Given the description of an element on the screen output the (x, y) to click on. 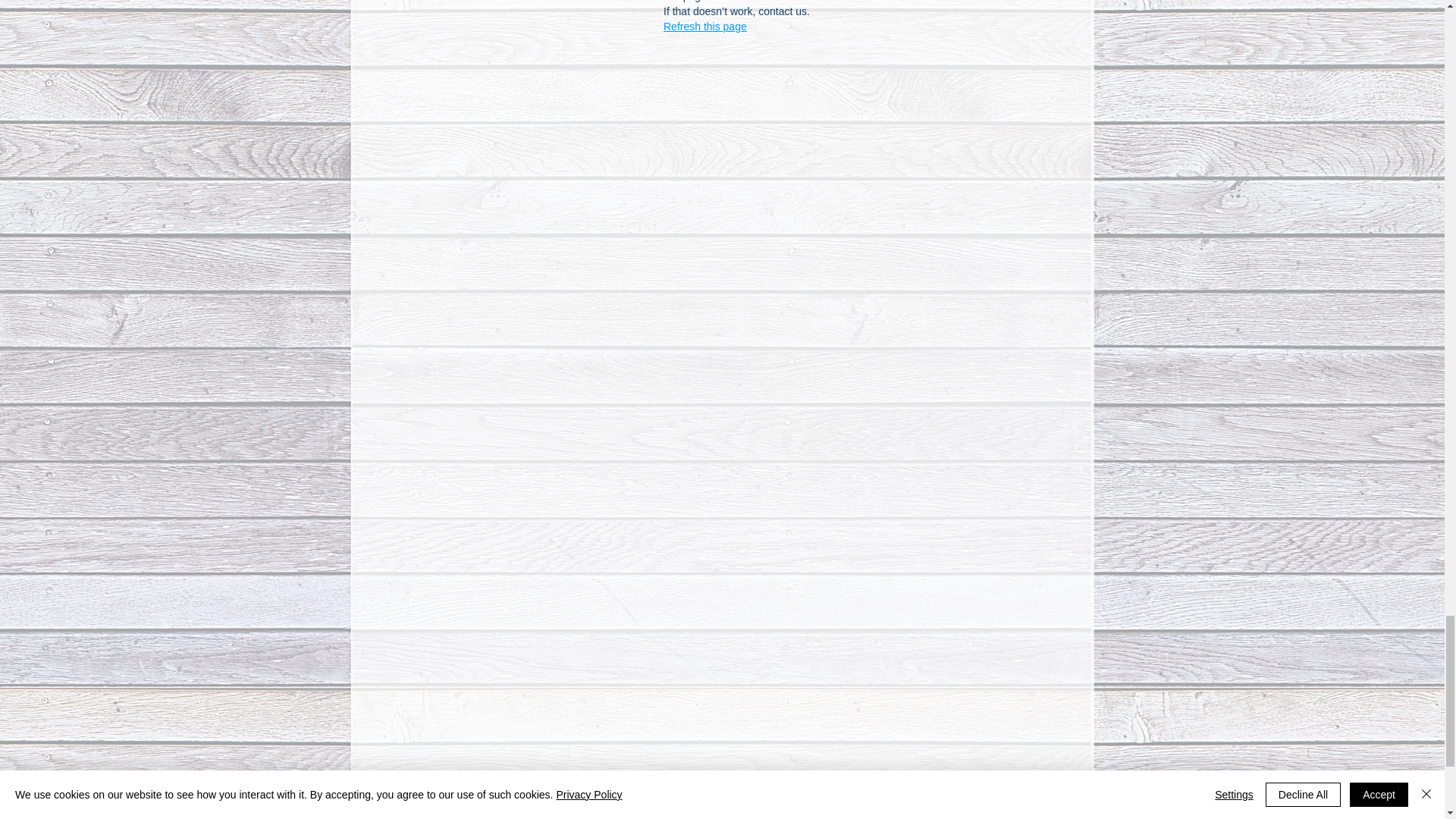
Refresh this page (704, 26)
